Given the description of an element on the screen output the (x, y) to click on. 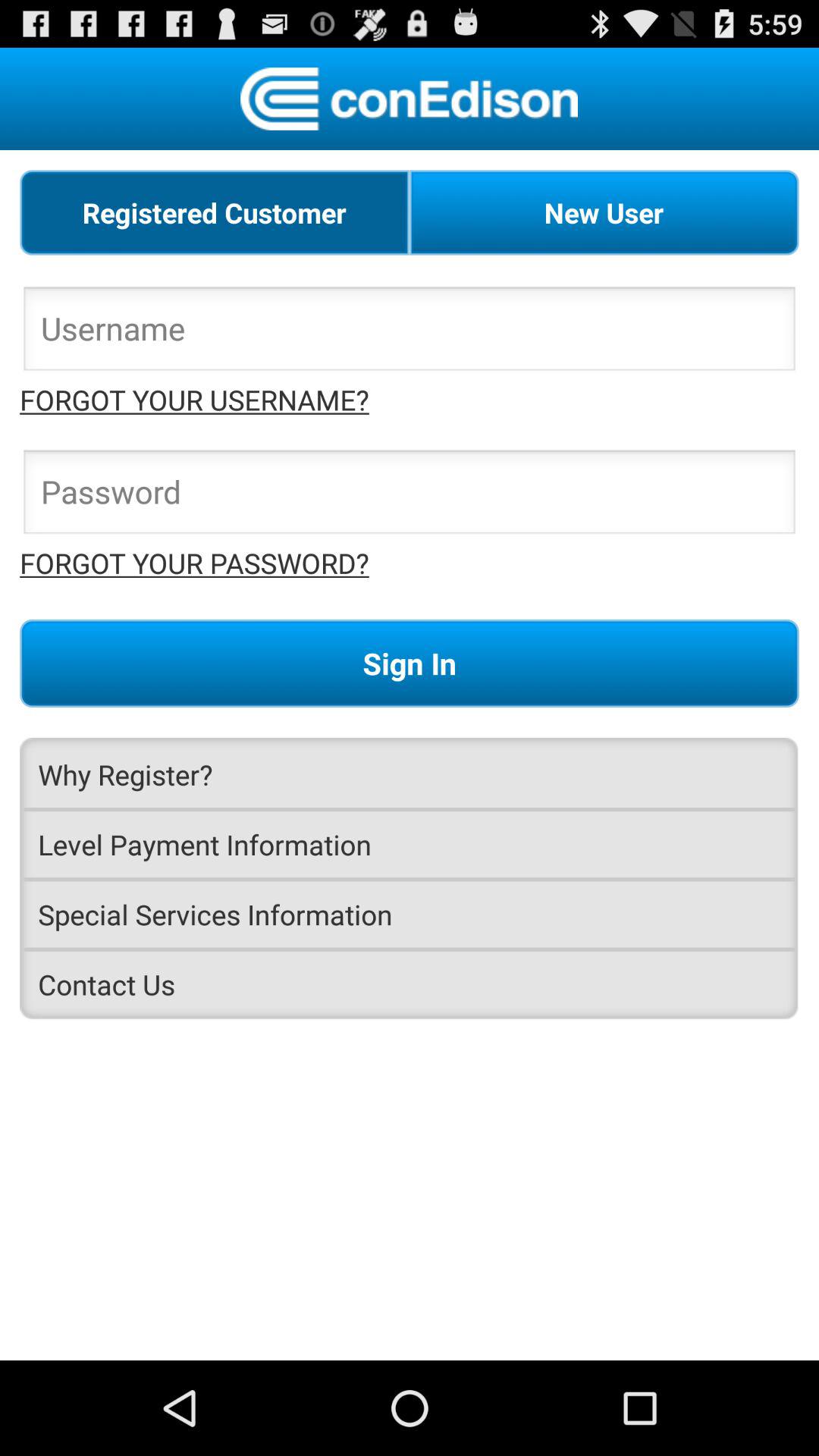
choose item to the right of the registered customer icon (604, 212)
